Given the description of an element on the screen output the (x, y) to click on. 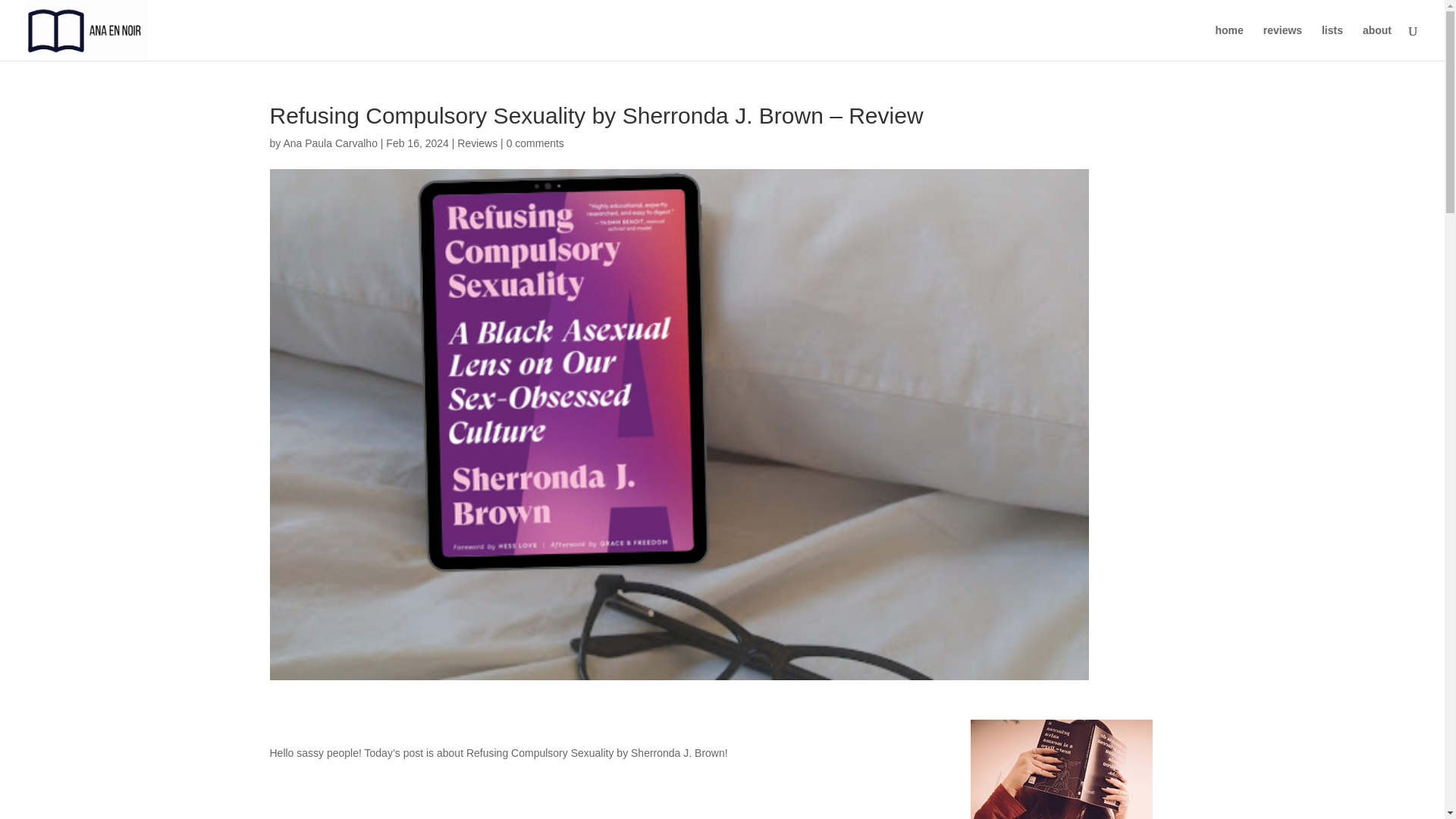
reviews (1282, 42)
0 comments (535, 143)
Ana Paula Carvalho (329, 143)
Reviews (477, 143)
Posts by Ana Paula Carvalho (329, 143)
